Given the description of an element on the screen output the (x, y) to click on. 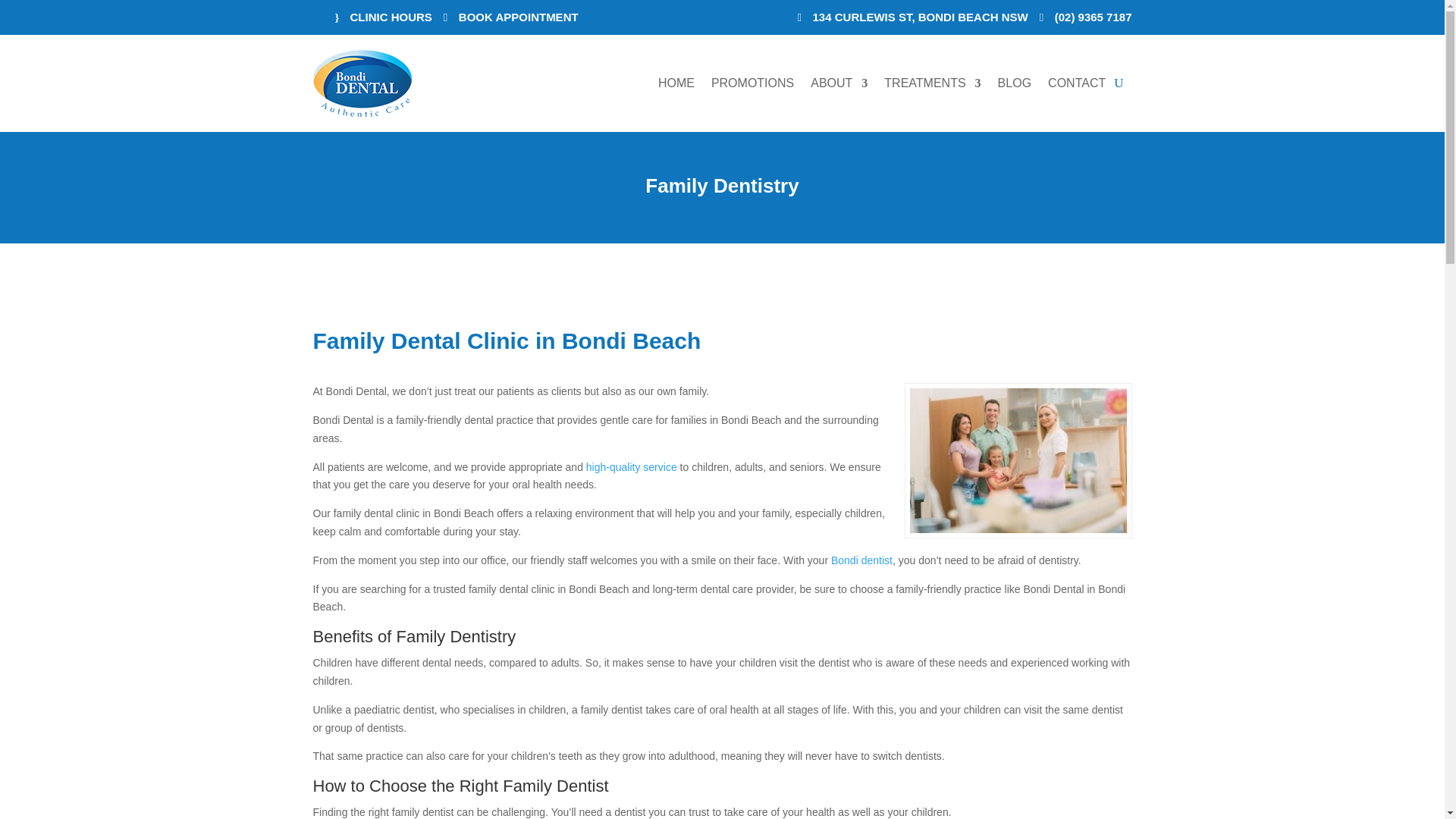
TREATMENTS (931, 83)
BOOK APPOINTMENT (511, 16)
134 CURLEWIS ST, BONDI BEACH NSW (912, 16)
CLINIC HOURS (383, 16)
PROMOTIONS (752, 83)
